Given the description of an element on the screen output the (x, y) to click on. 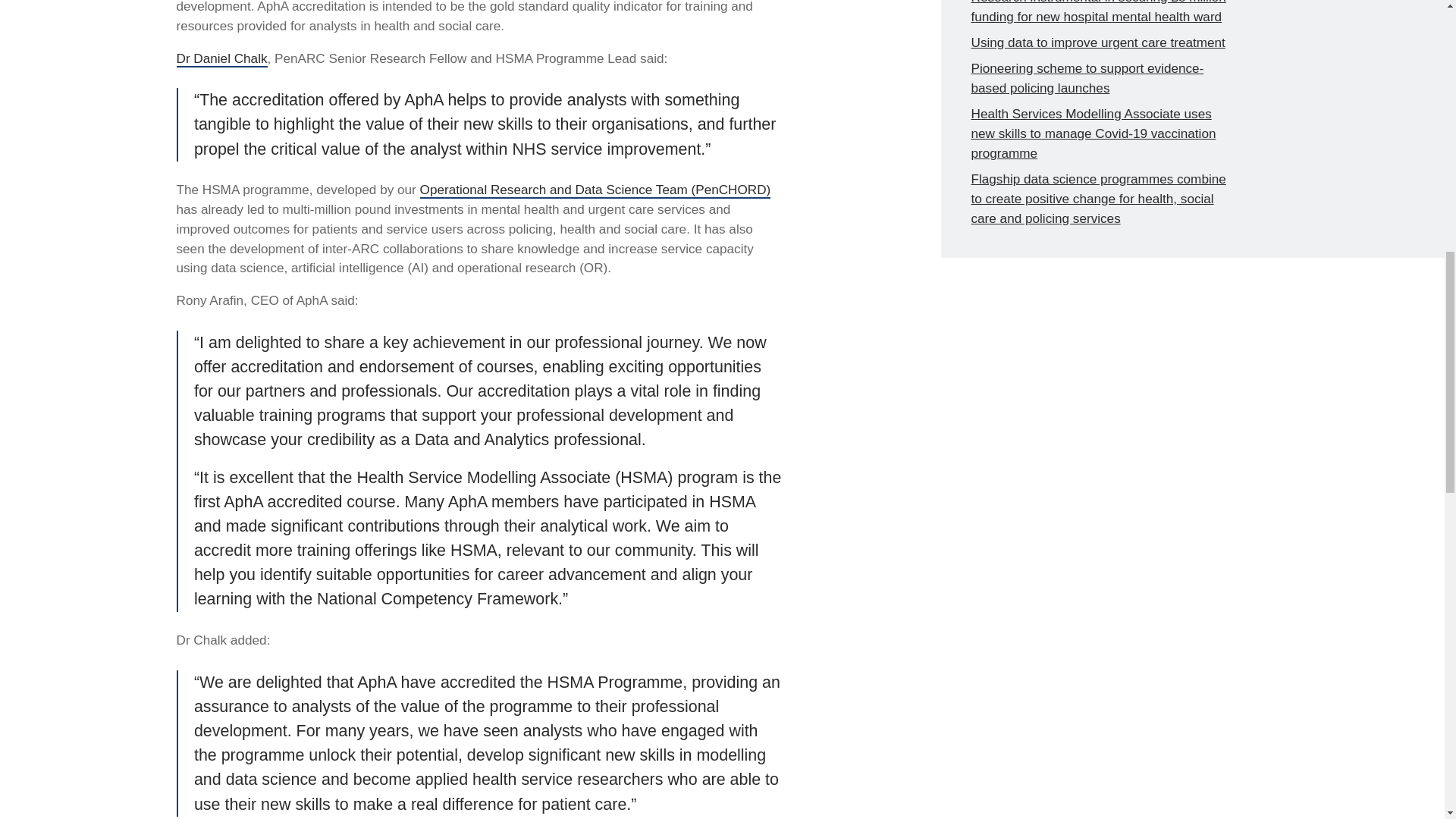
Using data to improve urgent care treatment (1097, 42)
Dr Daniel Chalk (221, 58)
